Given the description of an element on the screen output the (x, y) to click on. 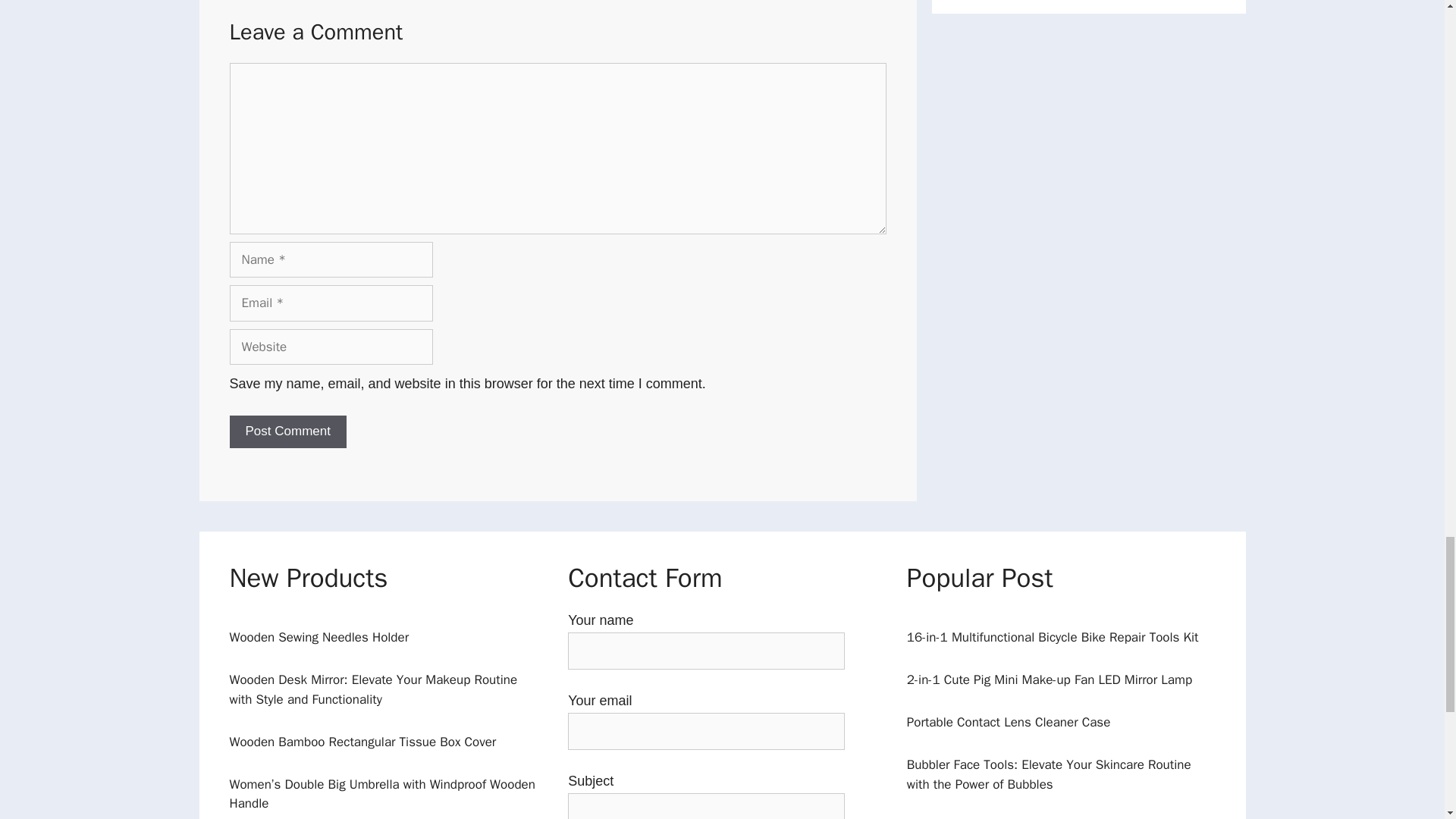
Post Comment (287, 431)
Post Comment (287, 431)
